Given the description of an element on the screen output the (x, y) to click on. 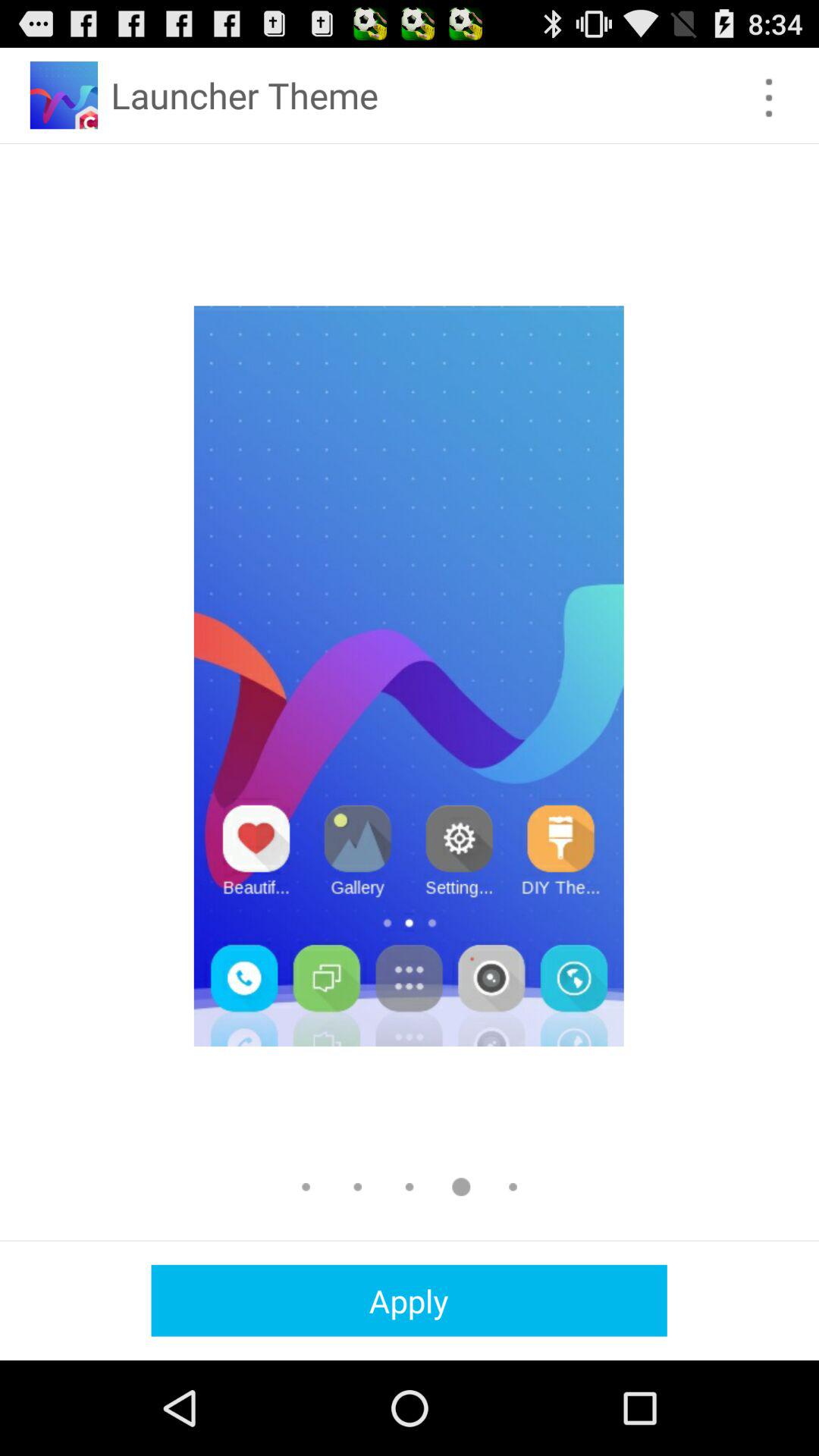
open settings (768, 97)
